Given the description of an element on the screen output the (x, y) to click on. 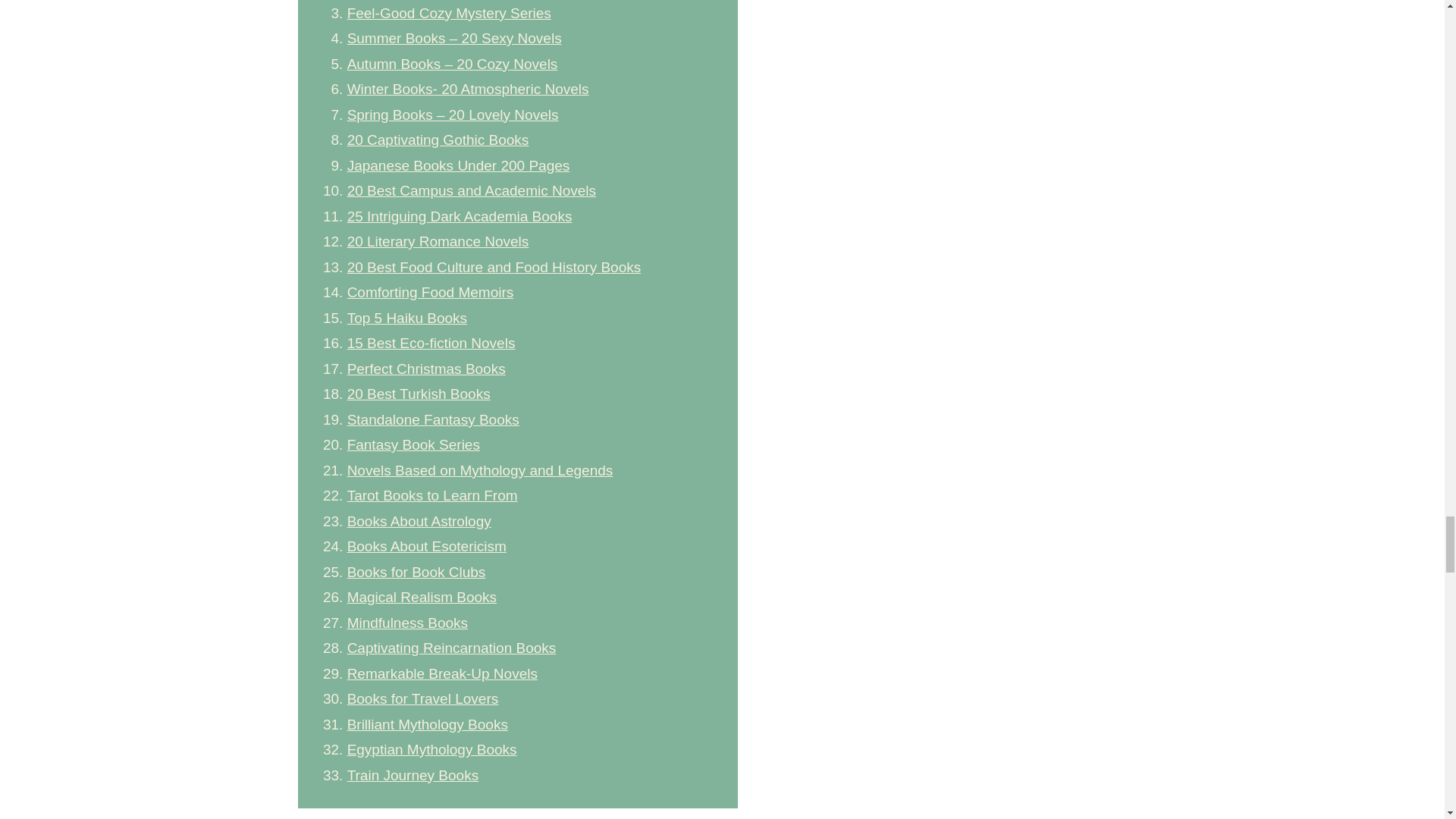
20 Best Food Culture and Food History Books (494, 267)
20 Captivating Gothic Books (438, 139)
20 Literary Romance Novels (438, 241)
Japanese Books Under 200 Pages (458, 165)
Winter Books- 20 Atmospheric Novels (468, 89)
20 Best Campus and Academic Novels (471, 190)
25 Intriguing Dark Academia Books (459, 215)
Comforting Food Memoirs (430, 292)
Feel-Good Cozy Mystery Series (449, 12)
